Given the description of an element on the screen output the (x, y) to click on. 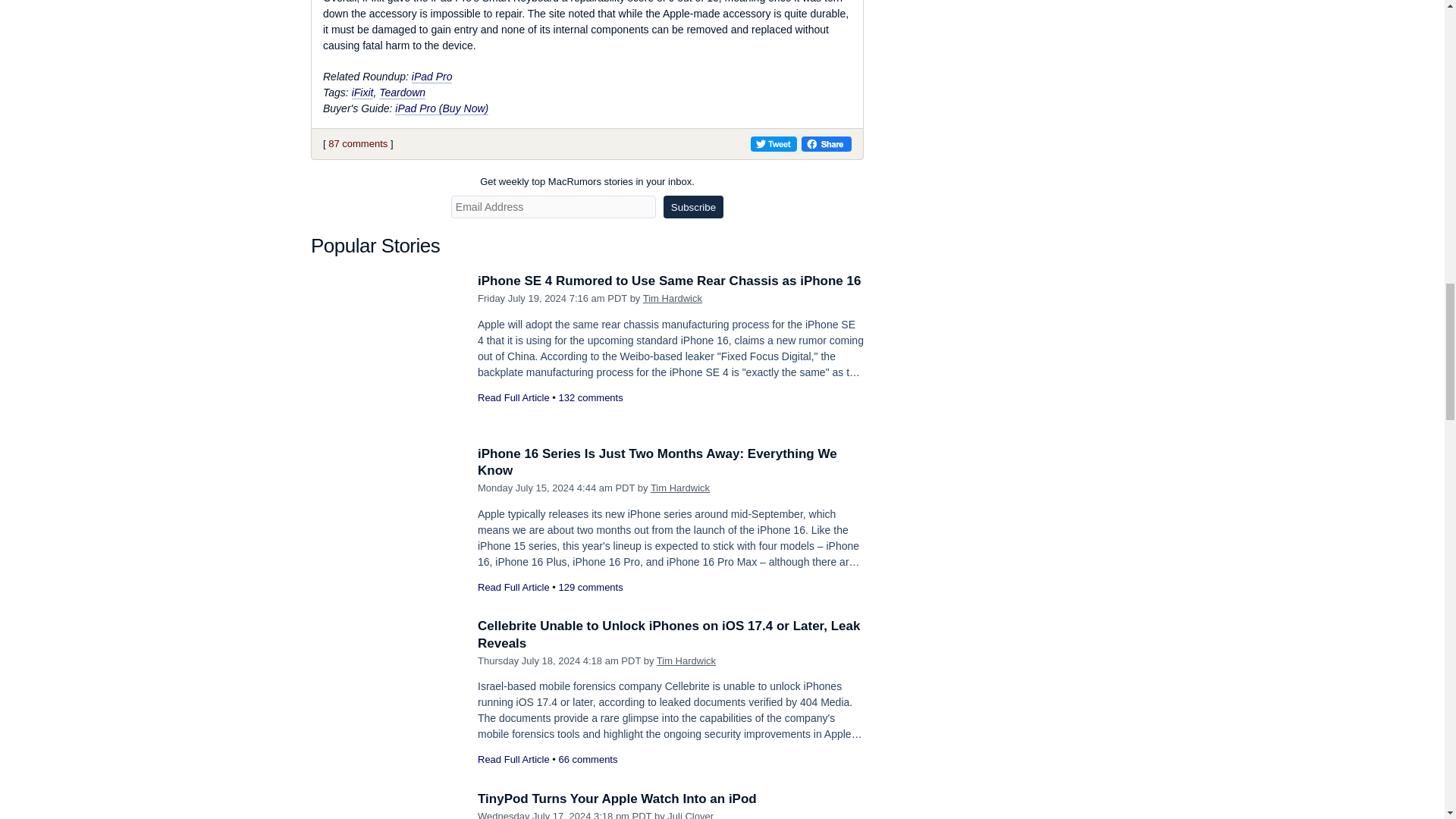
Subscribe (693, 206)
